Given the description of an element on the screen output the (x, y) to click on. 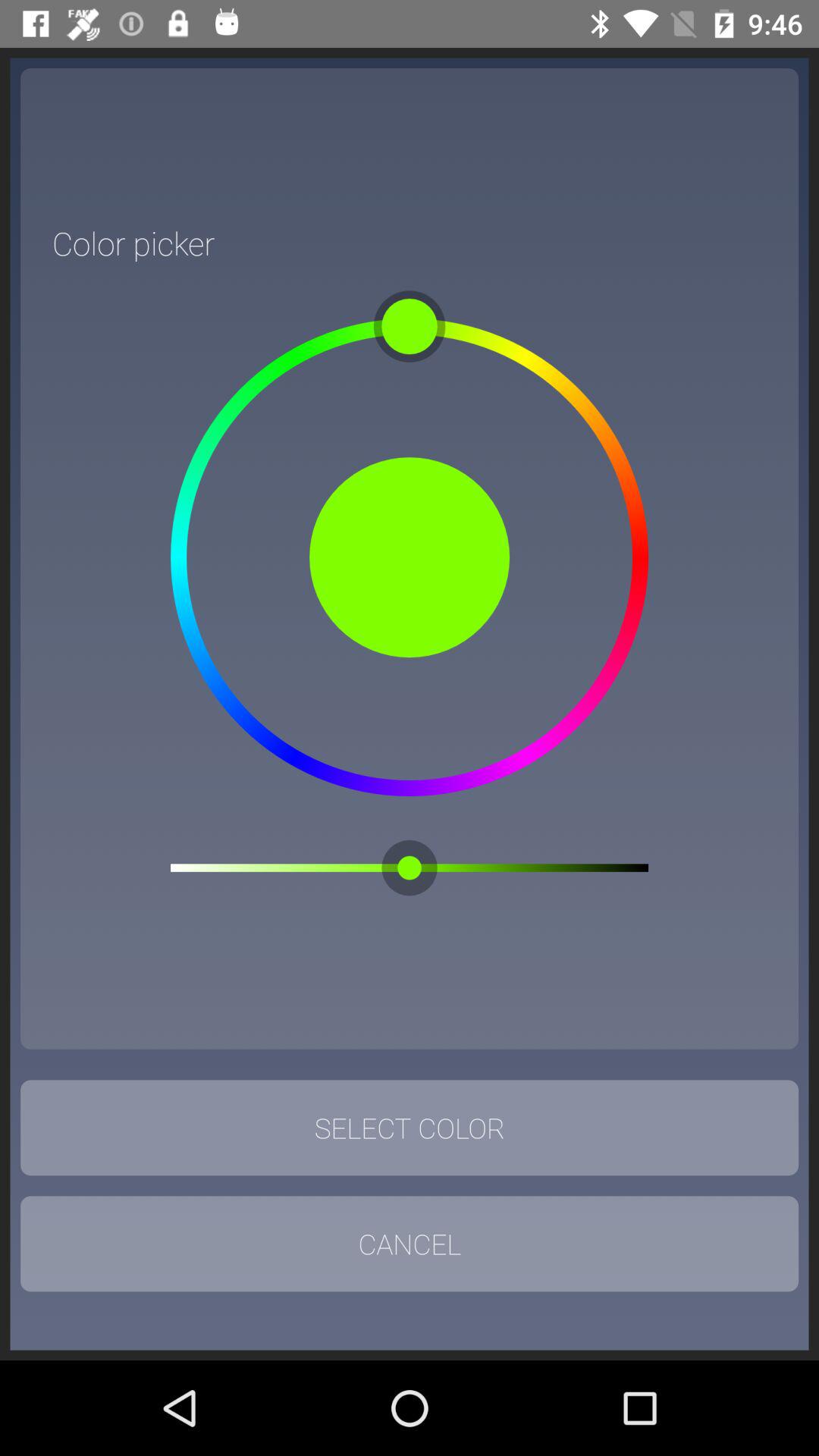
flip to the cancel item (409, 1243)
